Given the description of an element on the screen output the (x, y) to click on. 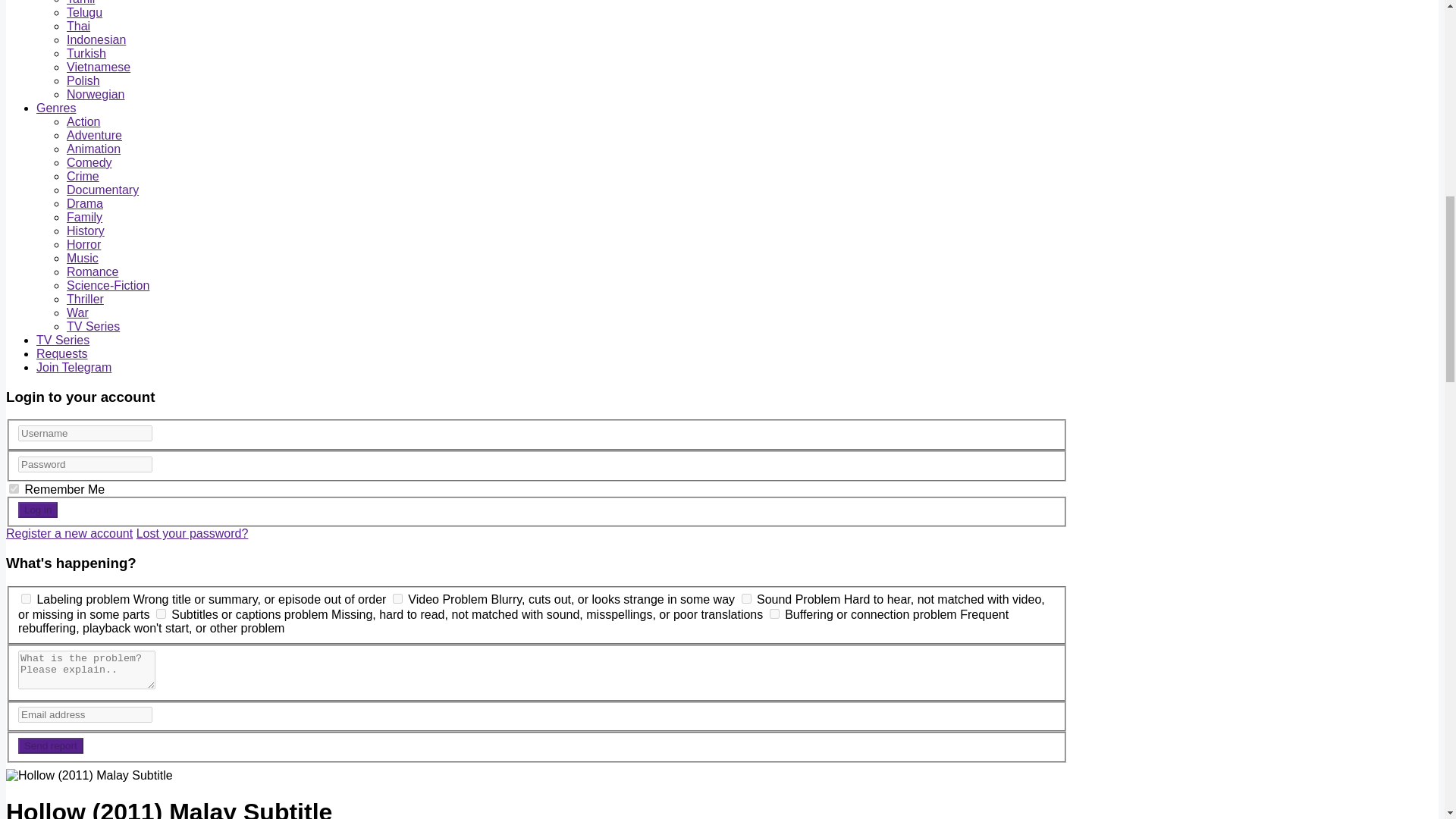
forever (13, 488)
audio (746, 598)
Log in (37, 509)
labeling (25, 598)
video (398, 598)
caption (160, 614)
buffering (774, 614)
Send report (49, 745)
